Given the description of an element on the screen output the (x, y) to click on. 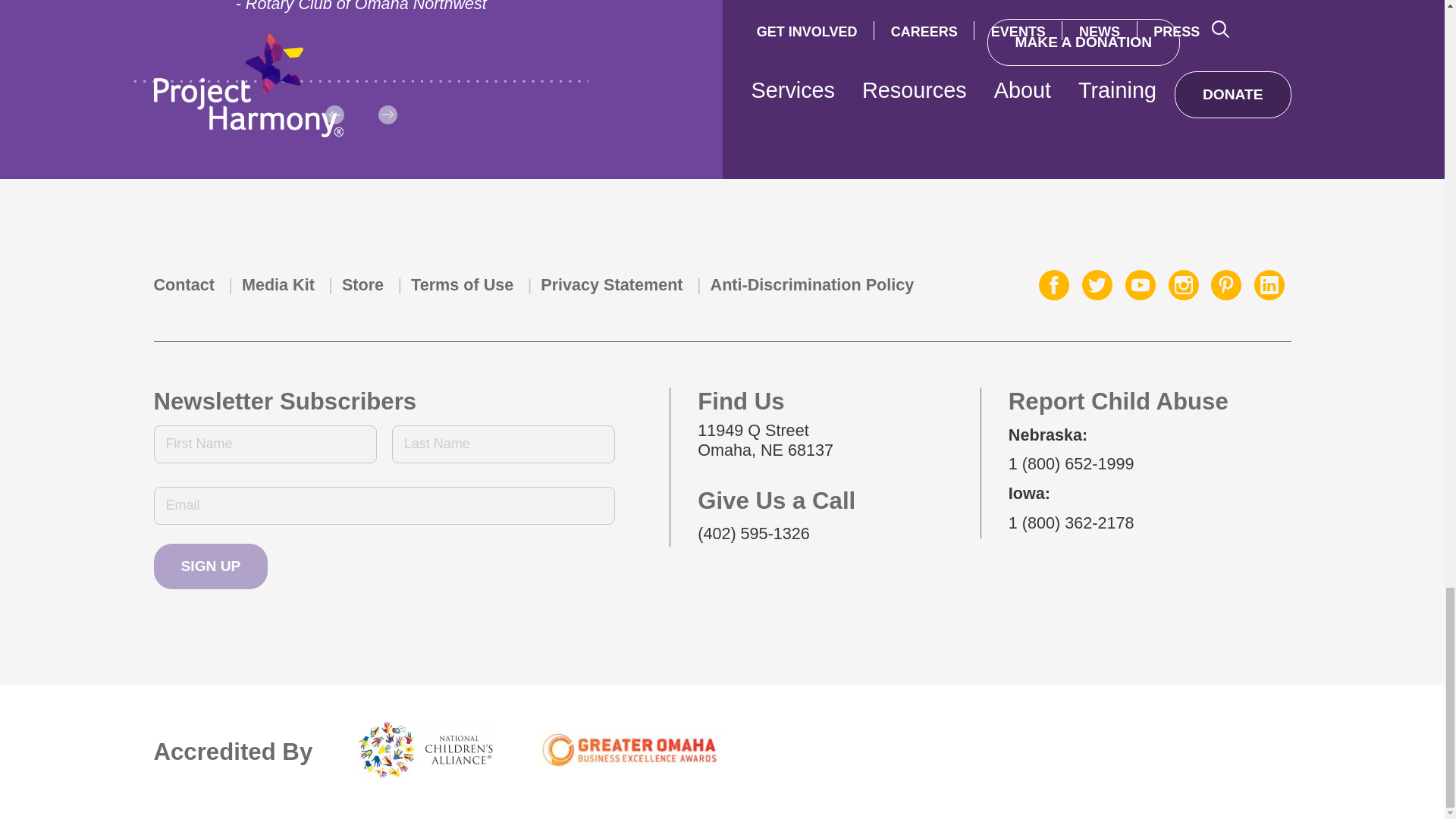
Sign Up (209, 565)
